Given the description of an element on the screen output the (x, y) to click on. 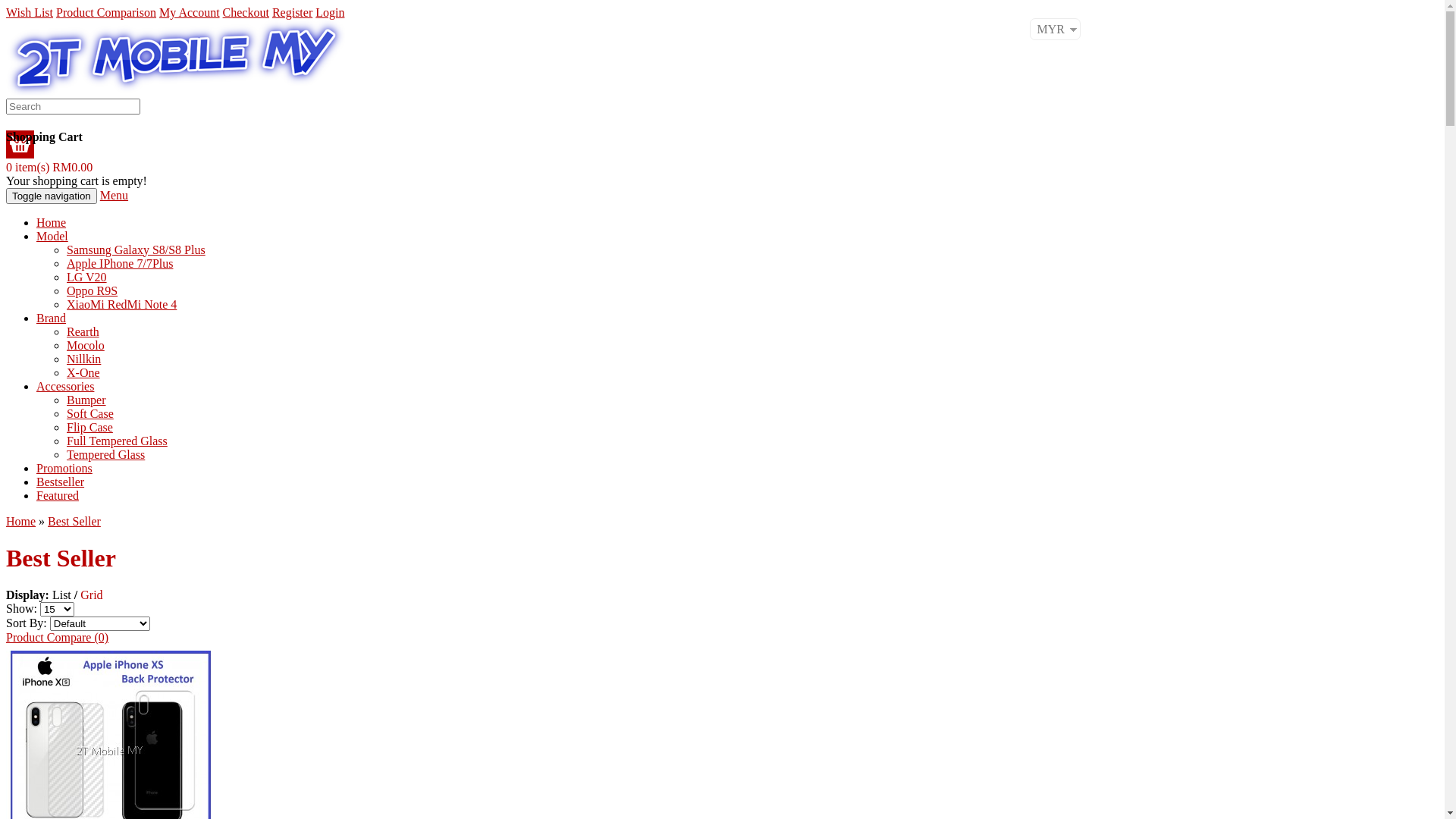
Model Element type: text (52, 235)
XiaoMi RedMi Note 4 Element type: text (121, 304)
Promotions Element type: text (64, 467)
Home Element type: text (50, 222)
My Account Element type: text (189, 12)
Product Comparison Element type: text (106, 12)
Bumper Element type: text (86, 399)
Two T Trends Enterprise Element type: hover (175, 57)
Accessories Element type: text (65, 385)
Flip Case Element type: text (89, 426)
Bestseller Element type: text (60, 481)
Product Compare (0) Element type: text (57, 636)
Samsung Galaxy S8/S8 Plus Element type: text (135, 249)
Grid Element type: text (91, 594)
Full Tempered Glass Element type: text (116, 440)
Home Element type: text (20, 520)
Tempered Glass Element type: text (105, 454)
Nillkin Element type: text (83, 358)
Wish List Element type: text (29, 12)
Best Seller Element type: text (73, 520)
Menu Element type: text (114, 194)
Mocolo Element type: text (85, 344)
Brand Element type: text (50, 317)
Register Element type: text (292, 12)
LG V20 Element type: text (86, 276)
Rearth Element type: text (82, 331)
X-One Element type: text (83, 372)
Soft Case Element type: text (89, 413)
Toggle navigation Element type: text (51, 195)
Checkout Element type: text (245, 12)
Oppo R9S Element type: text (91, 290)
Featured Element type: text (57, 495)
Login Element type: text (329, 12)
0 item(s) RM0.00 Element type: text (49, 166)
Apple IPhone 7/7Plus Element type: text (119, 263)
